Given the description of an element on the screen output the (x, y) to click on. 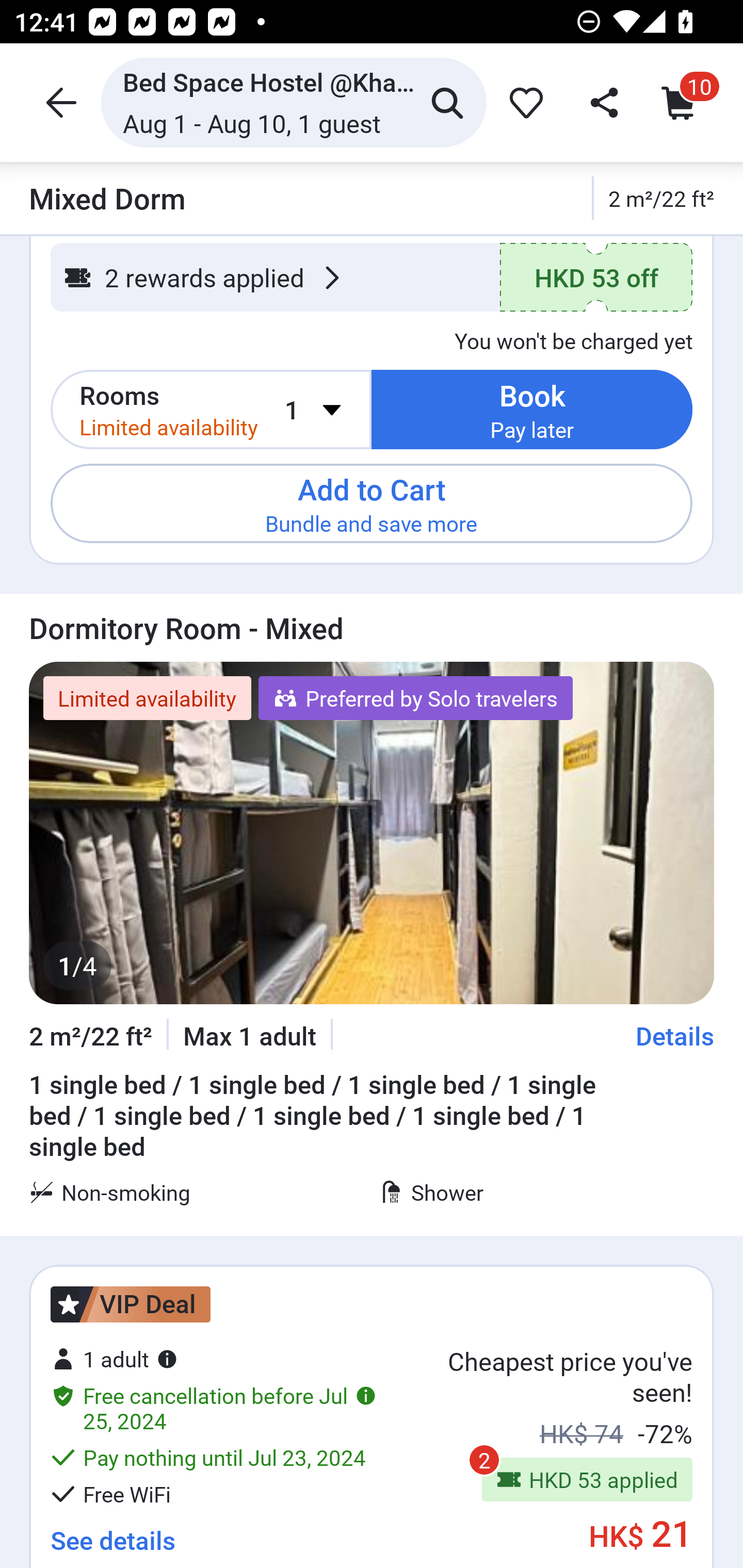
header icon (59, 102)
favorite_icon 0dbe6efb (522, 102)
share_header_icon (601, 102)
Cart icon cart_item_count 10 (683, 102)
2 rewards applied HKD 53 off (371, 278)
Rooms Limited availability 1 (210, 409)
Book Pay later (531, 409)
Add to Cart Bundle and save more (371, 503)
image (371, 832)
Details (674, 1035)
Free cancellation before Jul 25, 2024 (213, 1407)
See details (112, 1532)
